Given the description of an element on the screen output the (x, y) to click on. 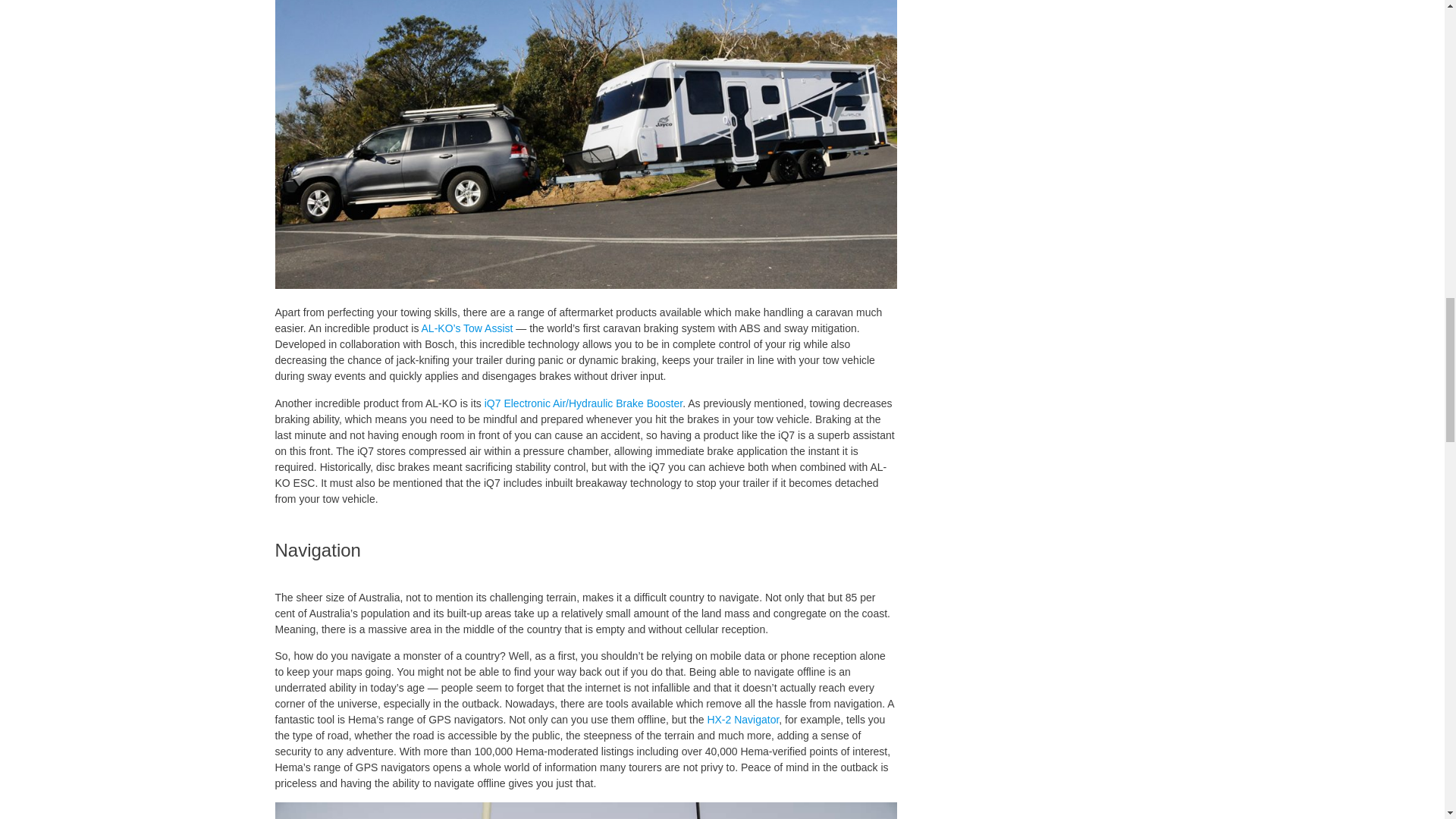
HX-2 Navigator (742, 719)
